Given the description of an element on the screen output the (x, y) to click on. 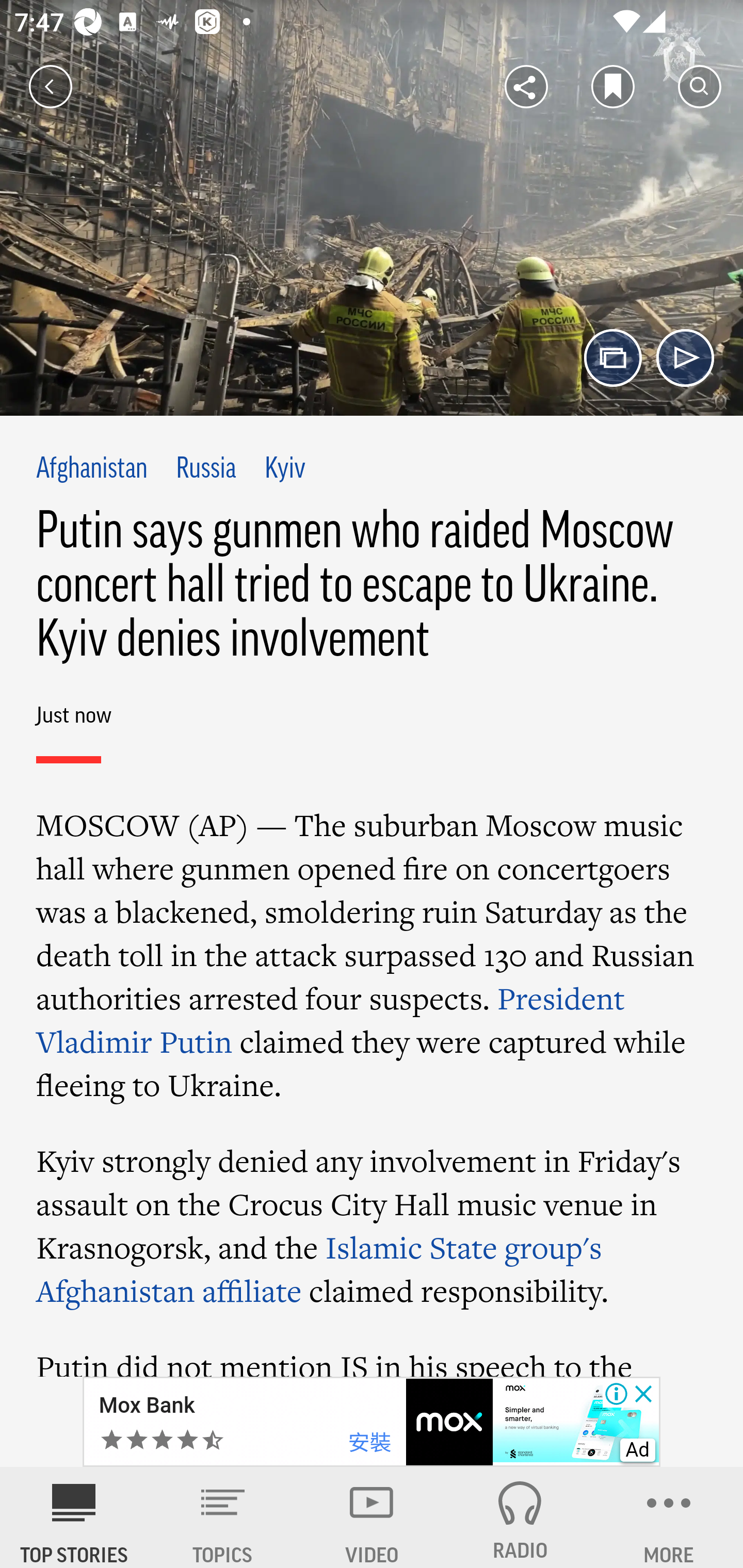
Afghanistan (91, 469)
Russia (205, 469)
Kyiv (284, 469)
President Vladimir Putin (331, 1018)
Islamic State group's Afghanistan affiliate (319, 1267)
Mox Bank (146, 1405)
安裝 (369, 1443)
AP News TOP STORIES (74, 1517)
TOPICS (222, 1517)
VIDEO (371, 1517)
RADIO (519, 1517)
MORE (668, 1517)
